Given the description of an element on the screen output the (x, y) to click on. 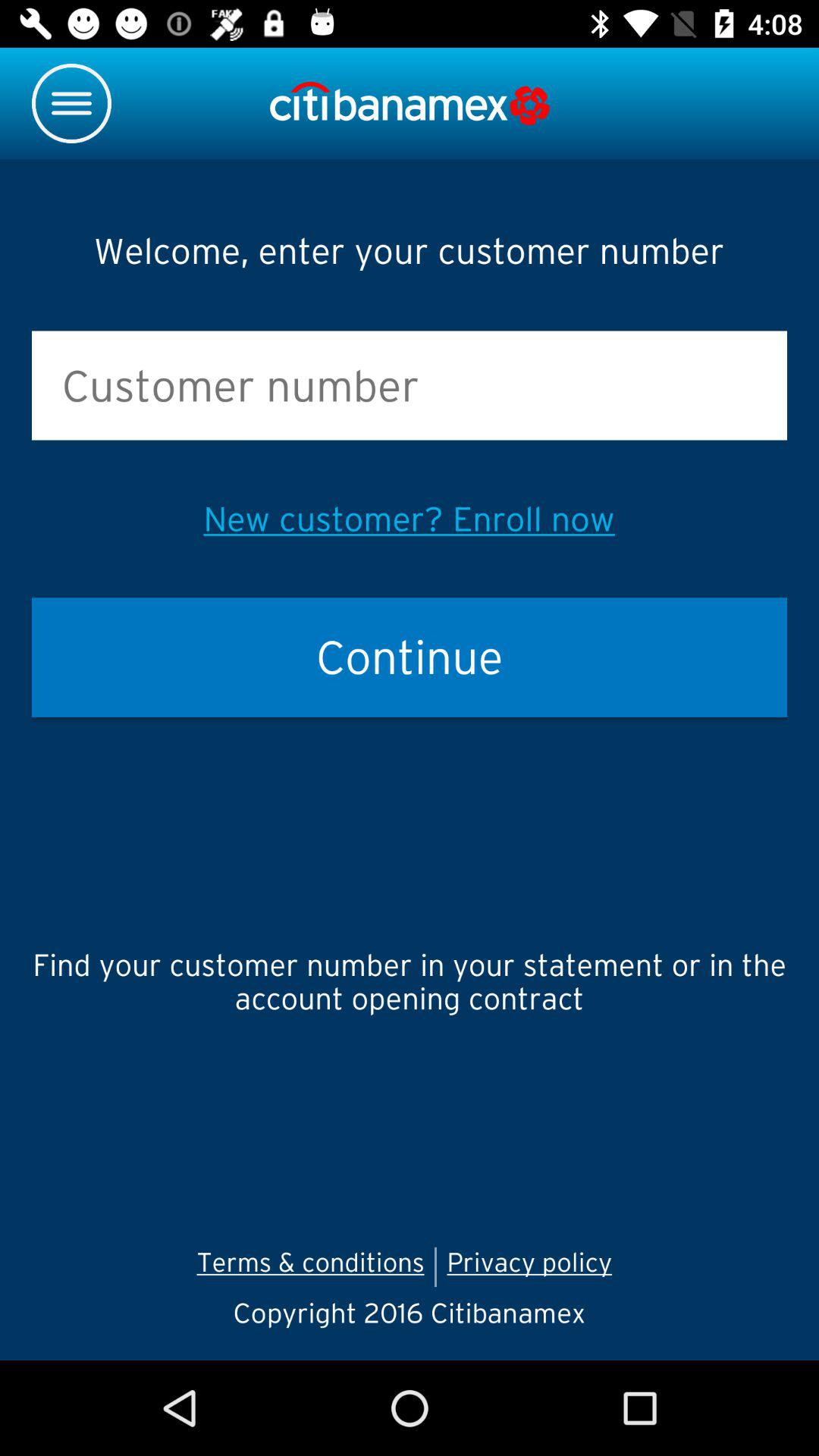
space to enter customer number (409, 385)
